Given the description of an element on the screen output the (x, y) to click on. 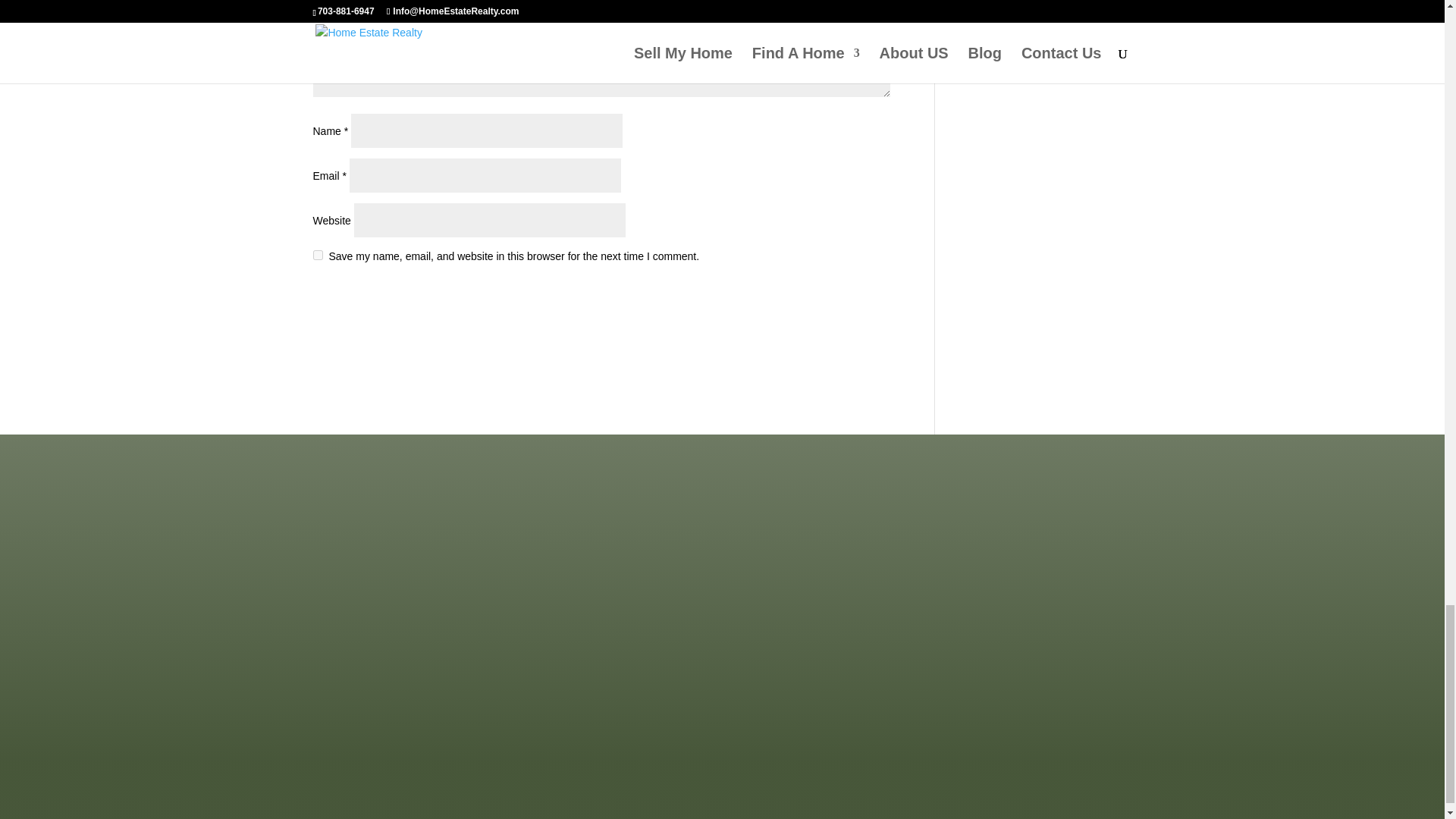
Submit Comment (814, 295)
Submit Comment (814, 295)
yes (317, 255)
